Given the description of an element on the screen output the (x, y) to click on. 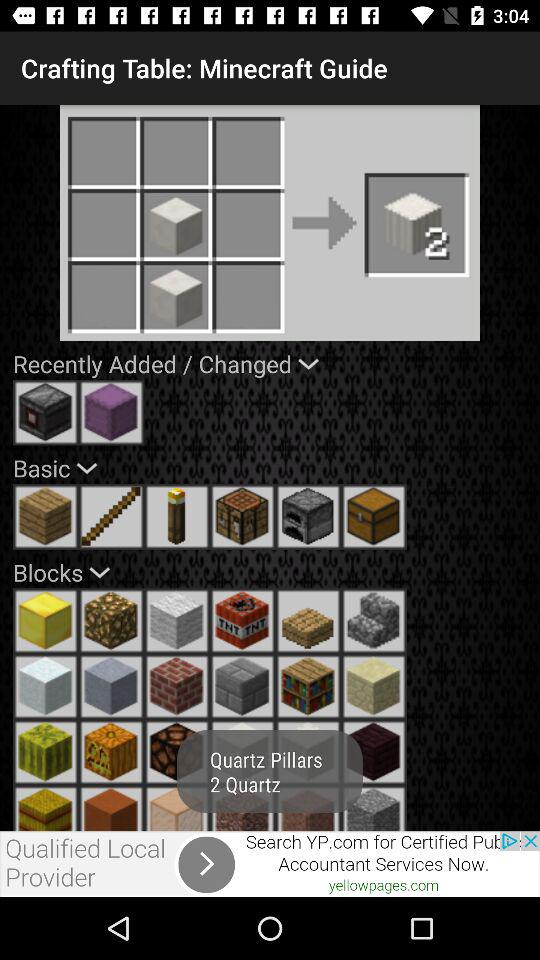
choose option (111, 808)
